Given the description of an element on the screen output the (x, y) to click on. 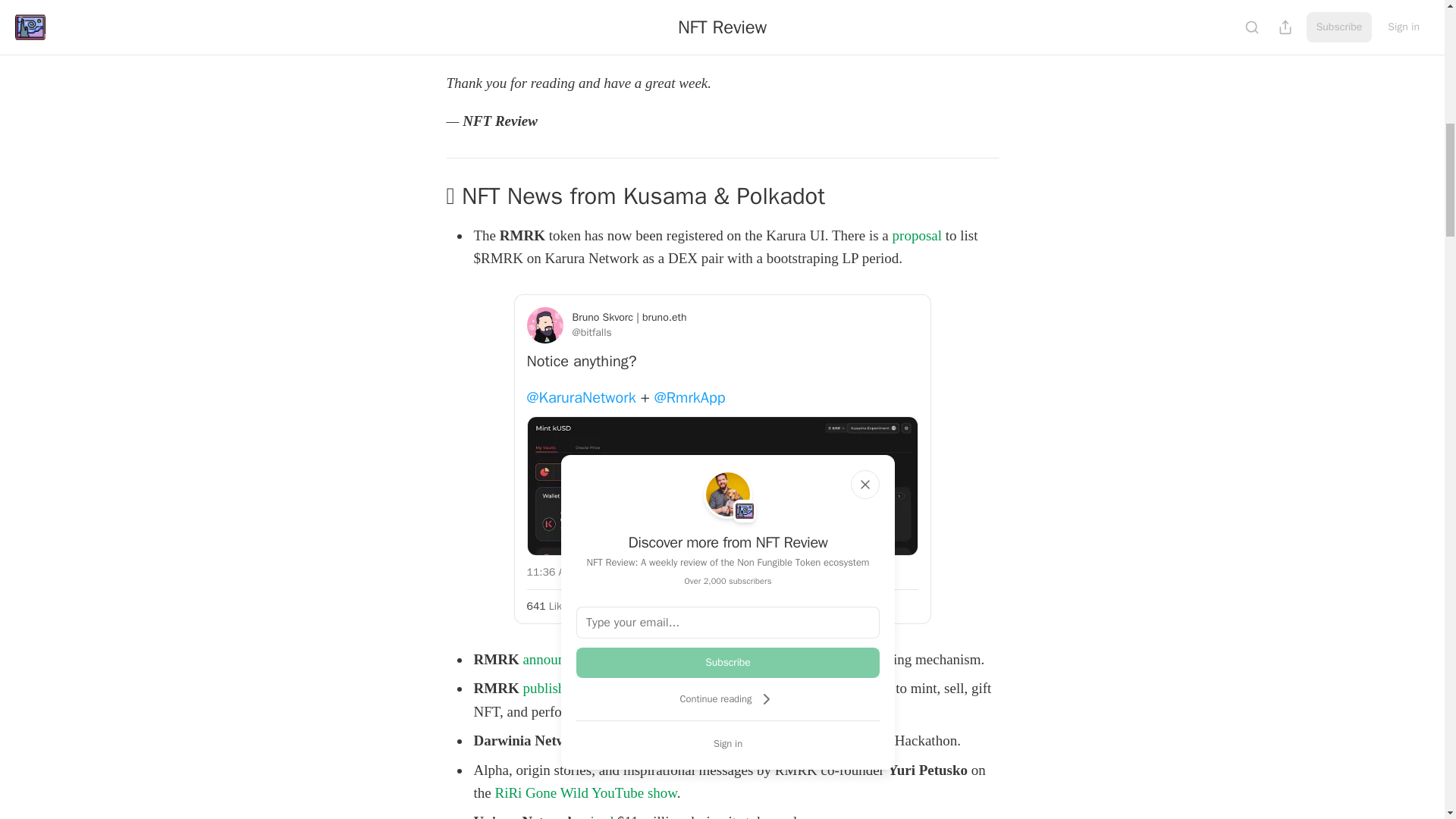
Subscribe (727, 662)
RiRi Gone Wild YouTube show (586, 792)
proposal (917, 235)
published (550, 688)
Sign in (727, 743)
announced (622, 740)
announced (553, 659)
